Given the description of an element on the screen output the (x, y) to click on. 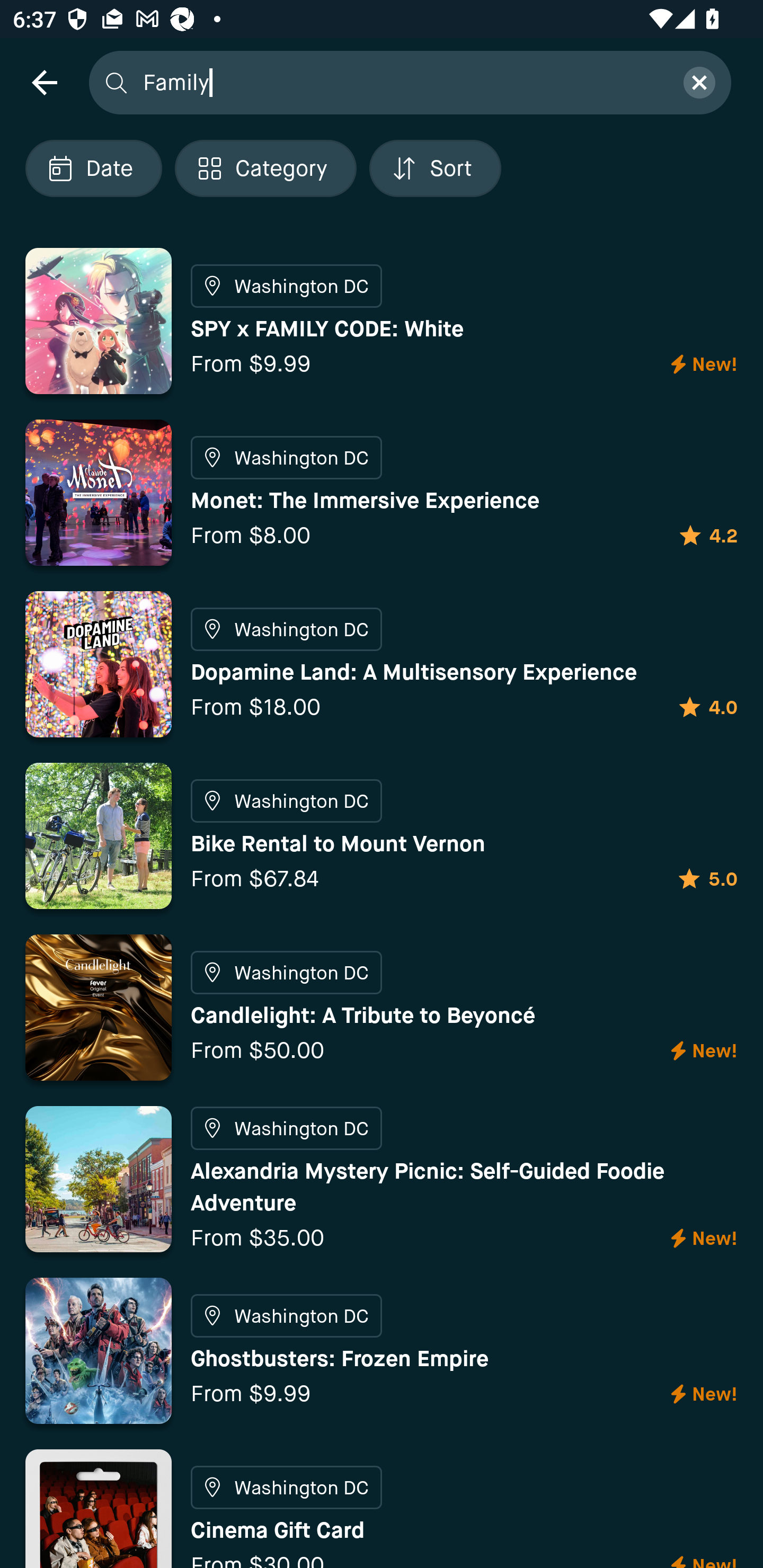
navigation icon (44, 81)
Family (402, 81)
Localized description Date (93, 168)
Localized description Category (265, 168)
Localized description Sort (435, 168)
